Given the description of an element on the screen output the (x, y) to click on. 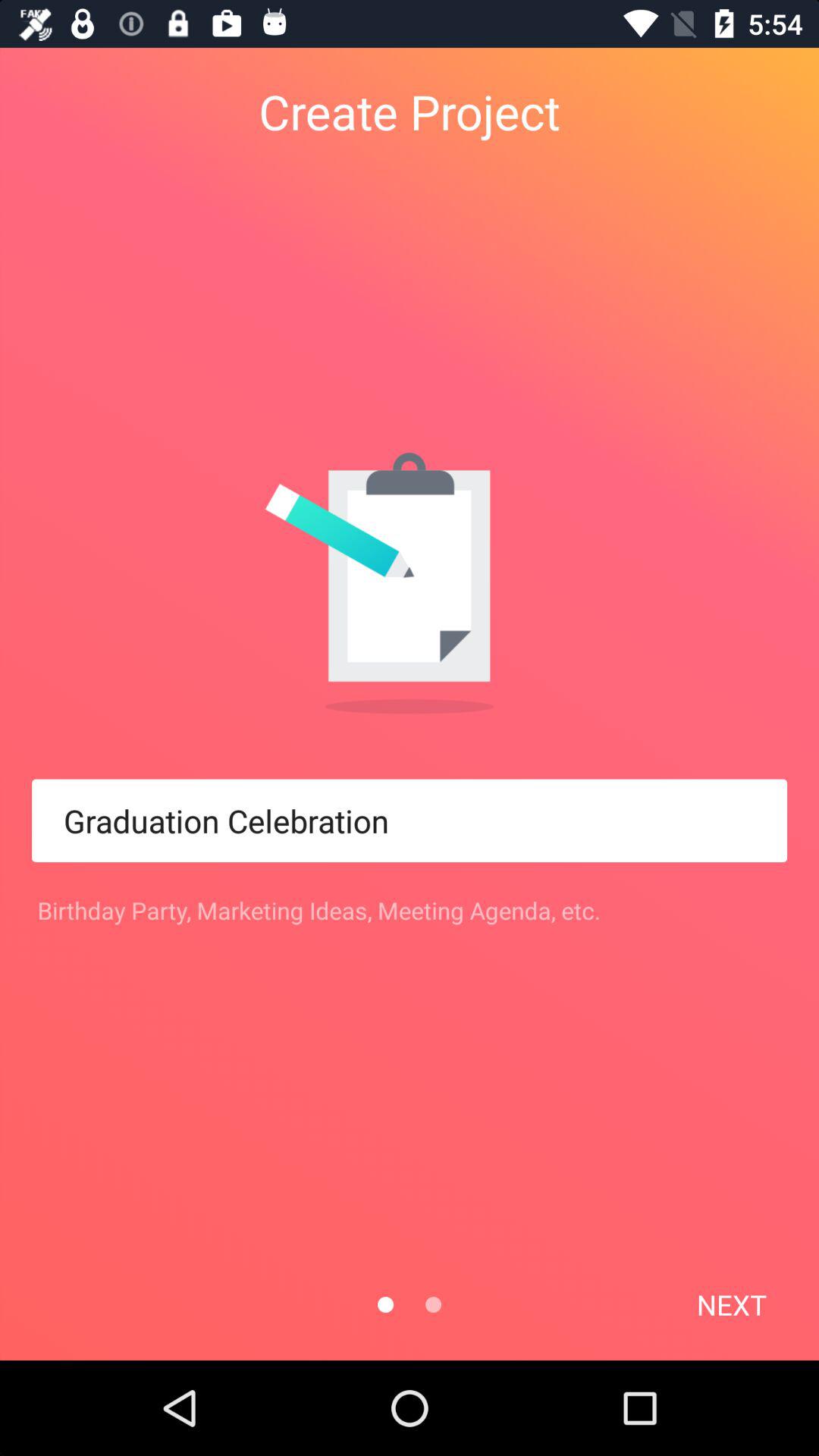
press graduation celebration icon (409, 820)
